Given the description of an element on the screen output the (x, y) to click on. 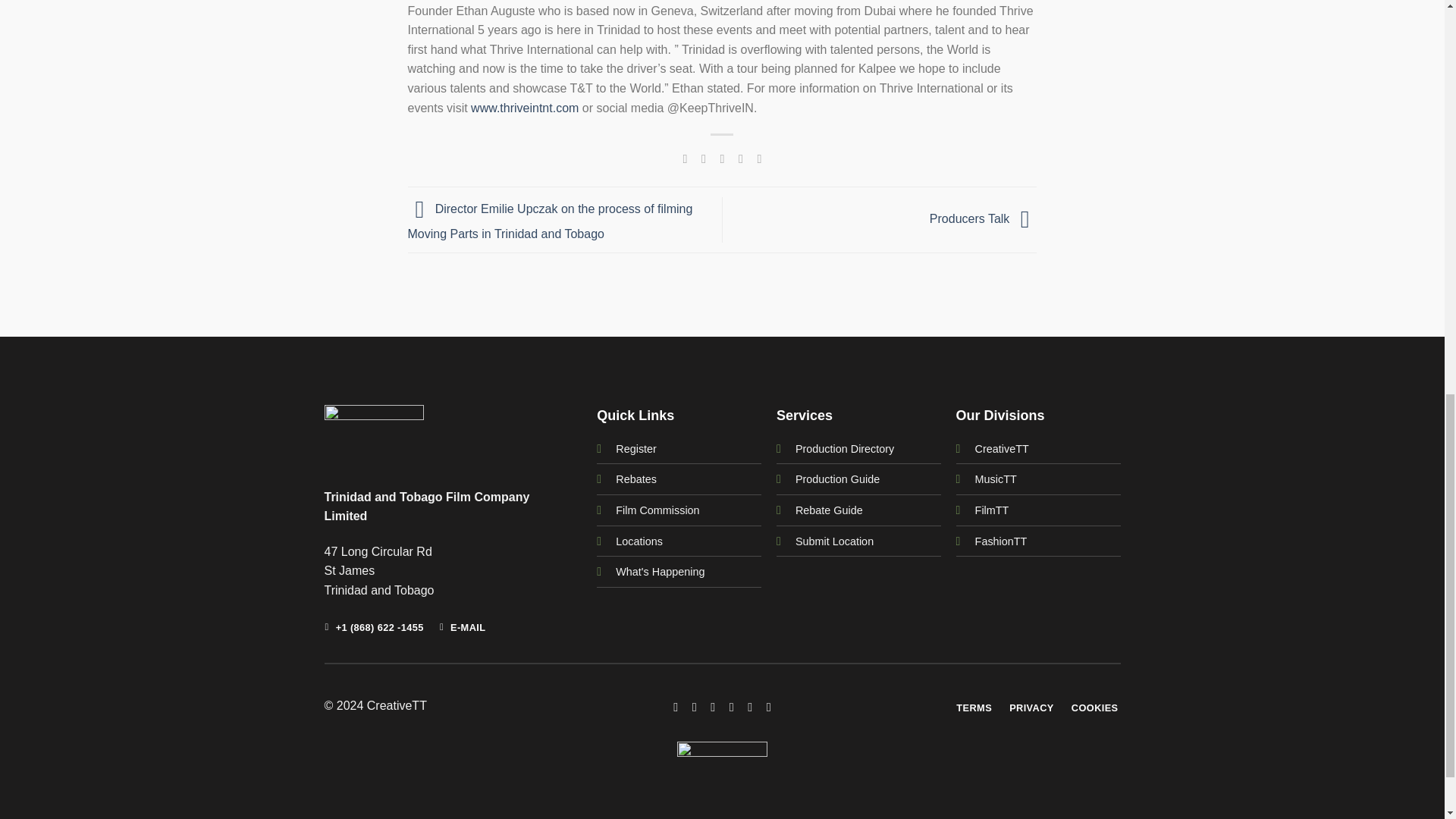
Email to a Friend (722, 158)
Pin on Pinterest (740, 158)
Share on Twitter (703, 158)
Share on Facebook (684, 158)
